Given the description of an element on the screen output the (x, y) to click on. 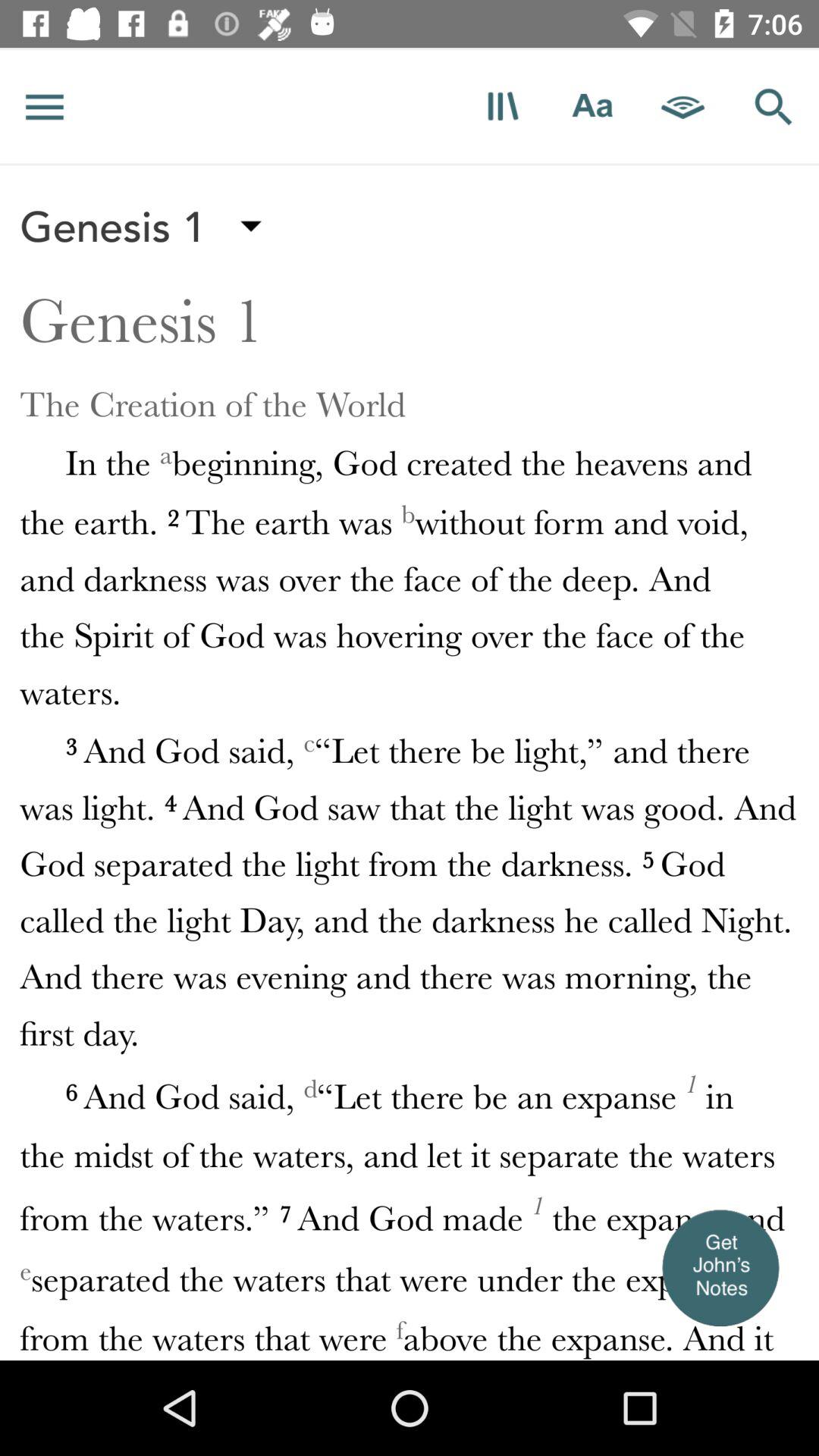
toggle a reading option (683, 106)
